Given the description of an element on the screen output the (x, y) to click on. 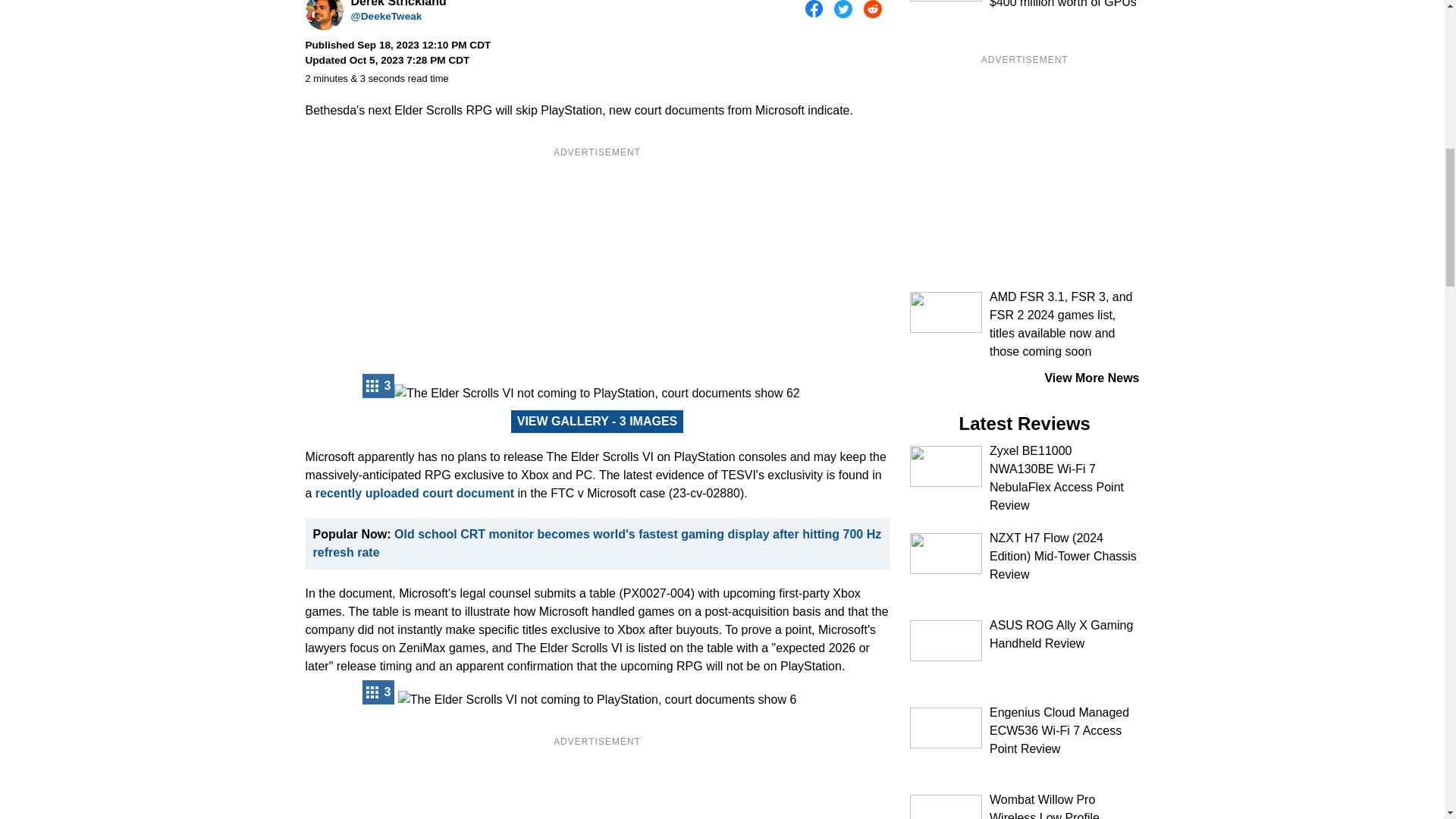
Derek Strickland (323, 15)
Share on Twitter (842, 9)
Share on Reddit (871, 9)
Open Gallery (378, 385)
Share on Facebook (814, 9)
